Given the description of an element on the screen output the (x, y) to click on. 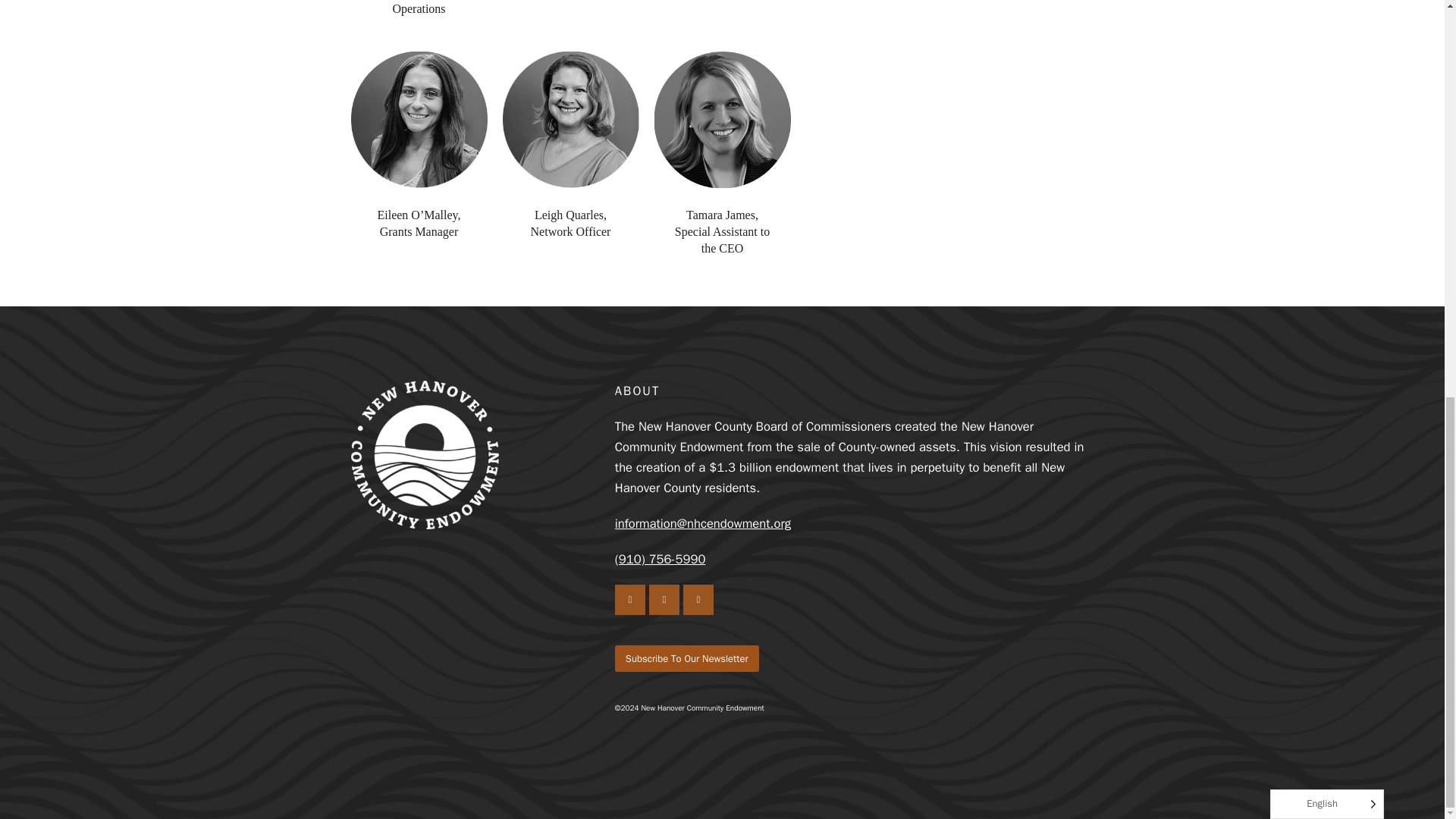
Leigh Quarles, Network Officer (571, 223)
LinkedIn (697, 599)
LinkedIn (697, 599)
Tamara James, Special Assistant to the CEO (722, 231)
Instagram (629, 599)
Facebook (664, 599)
Facebook (664, 599)
Instagram (629, 599)
Subscribe To Our Newsletter (686, 658)
